Given the description of an element on the screen output the (x, y) to click on. 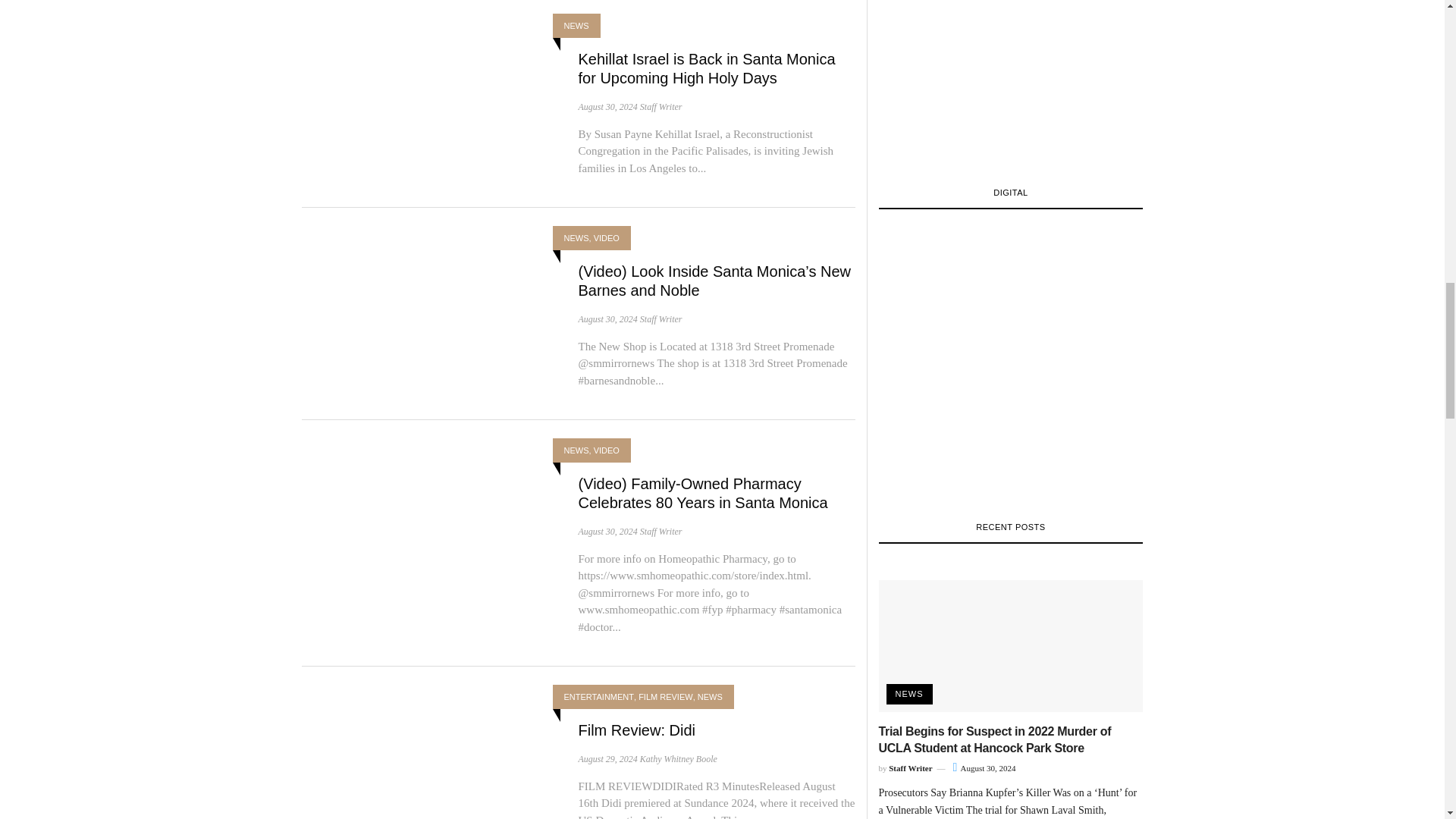
Posts by Staff Writer (661, 318)
Posts by Staff Writer (661, 106)
